Given the description of an element on the screen output the (x, y) to click on. 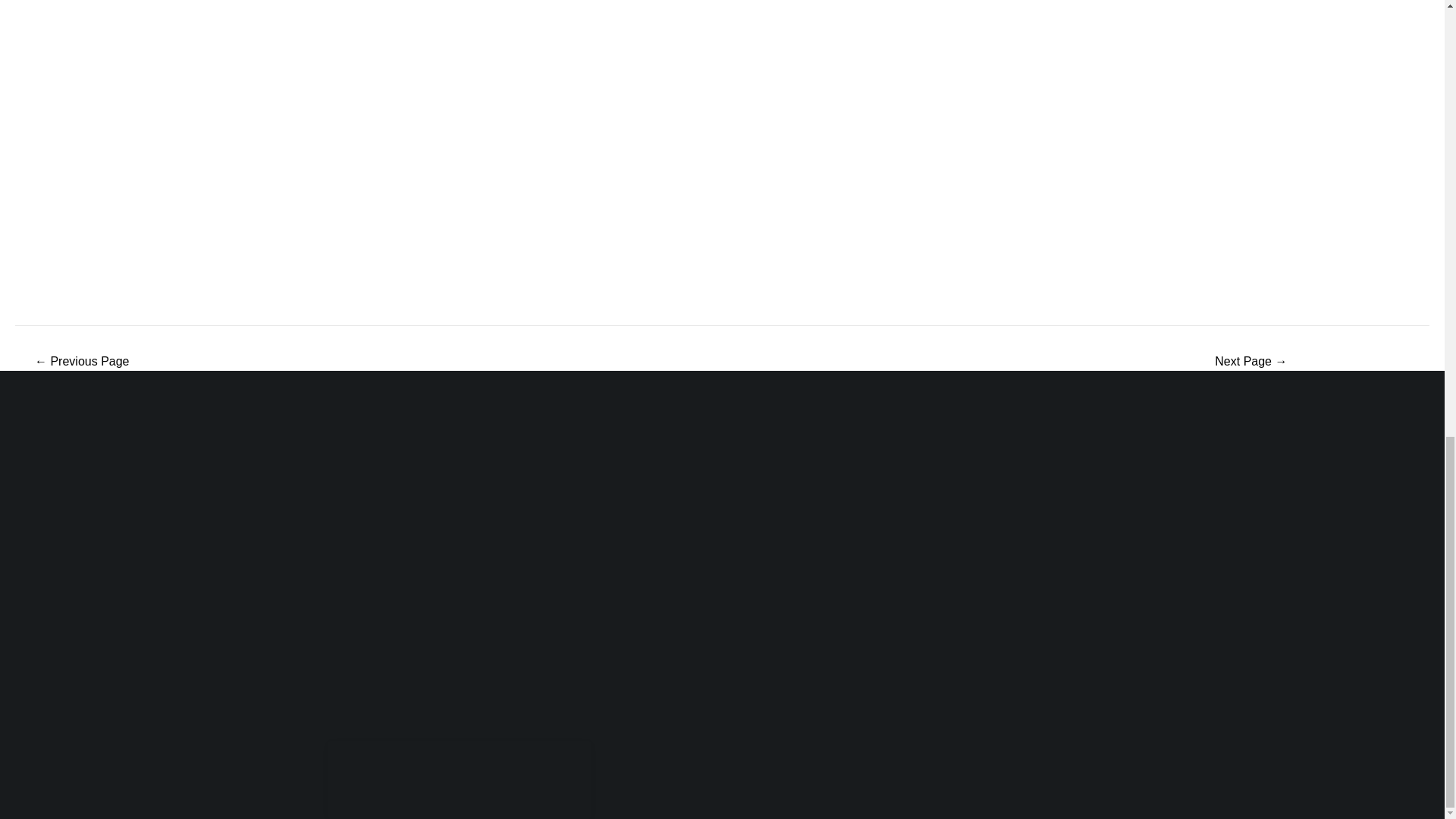
Introduction (82, 361)
The effort threshold (1251, 361)
